Given the description of an element on the screen output the (x, y) to click on. 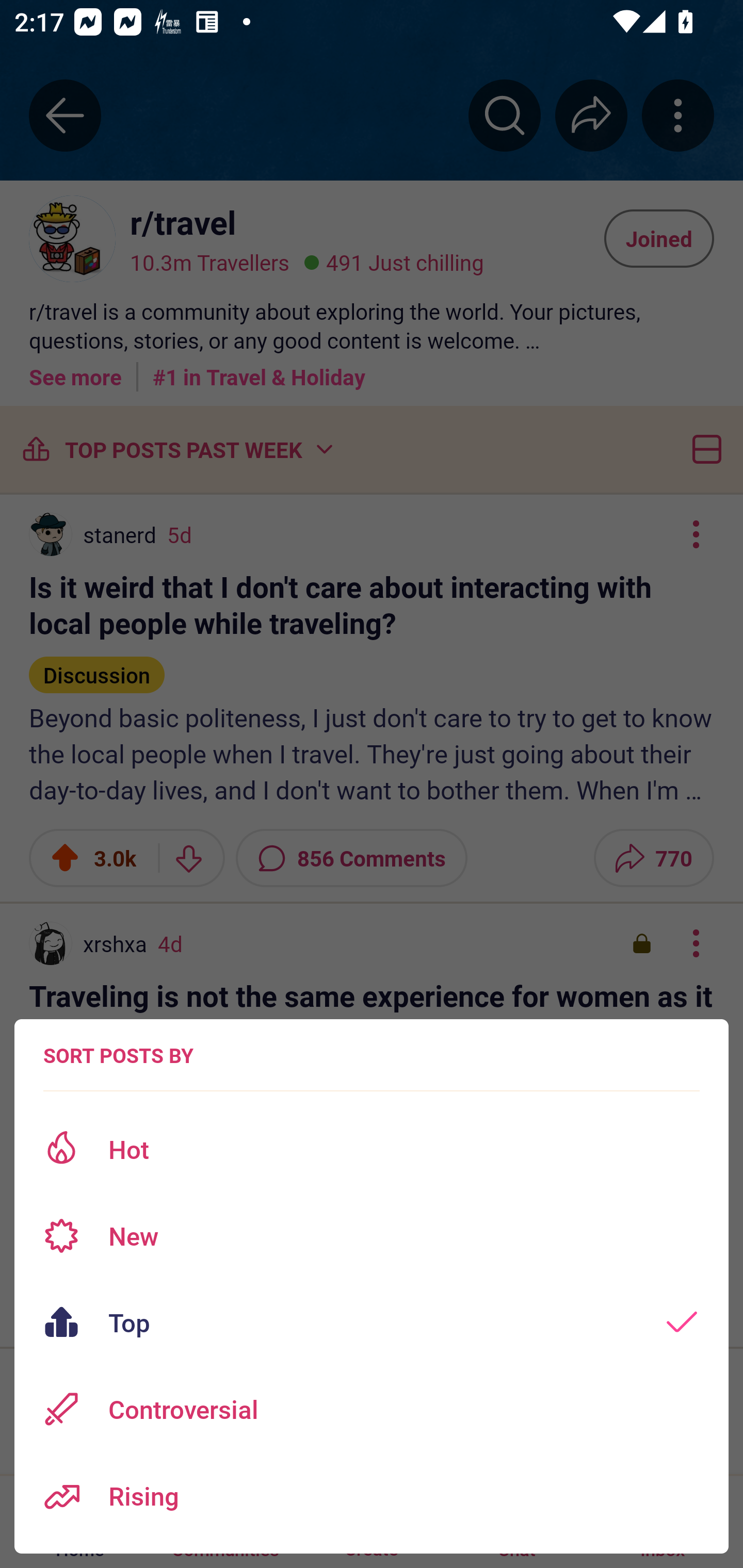
SORT POSTS BY Sort posts options (118, 1055)
Hot (371, 1149)
New (371, 1236)
Top (371, 1322)
Controversial (371, 1408)
Rising (371, 1495)
